Given the description of an element on the screen output the (x, y) to click on. 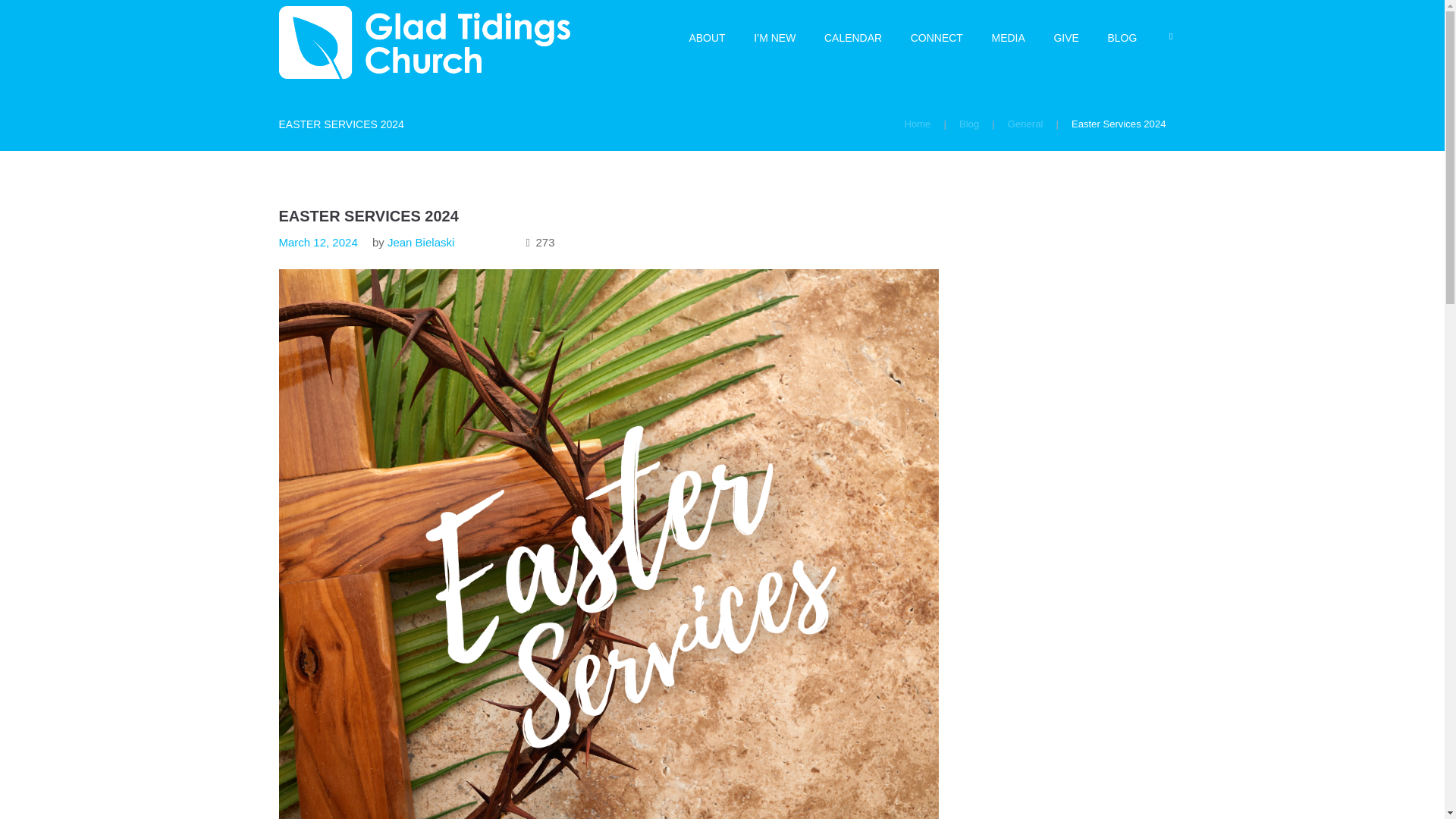
March 12, 2024 (318, 241)
Open search (1170, 36)
ABOUT (707, 37)
BLOG (1122, 37)
MEDIA (1007, 37)
CONNECT (936, 37)
Views - 273 (539, 241)
Home (917, 124)
Blog (968, 124)
GIVE (1066, 37)
General (1025, 124)
CALENDAR (852, 37)
